Given the description of an element on the screen output the (x, y) to click on. 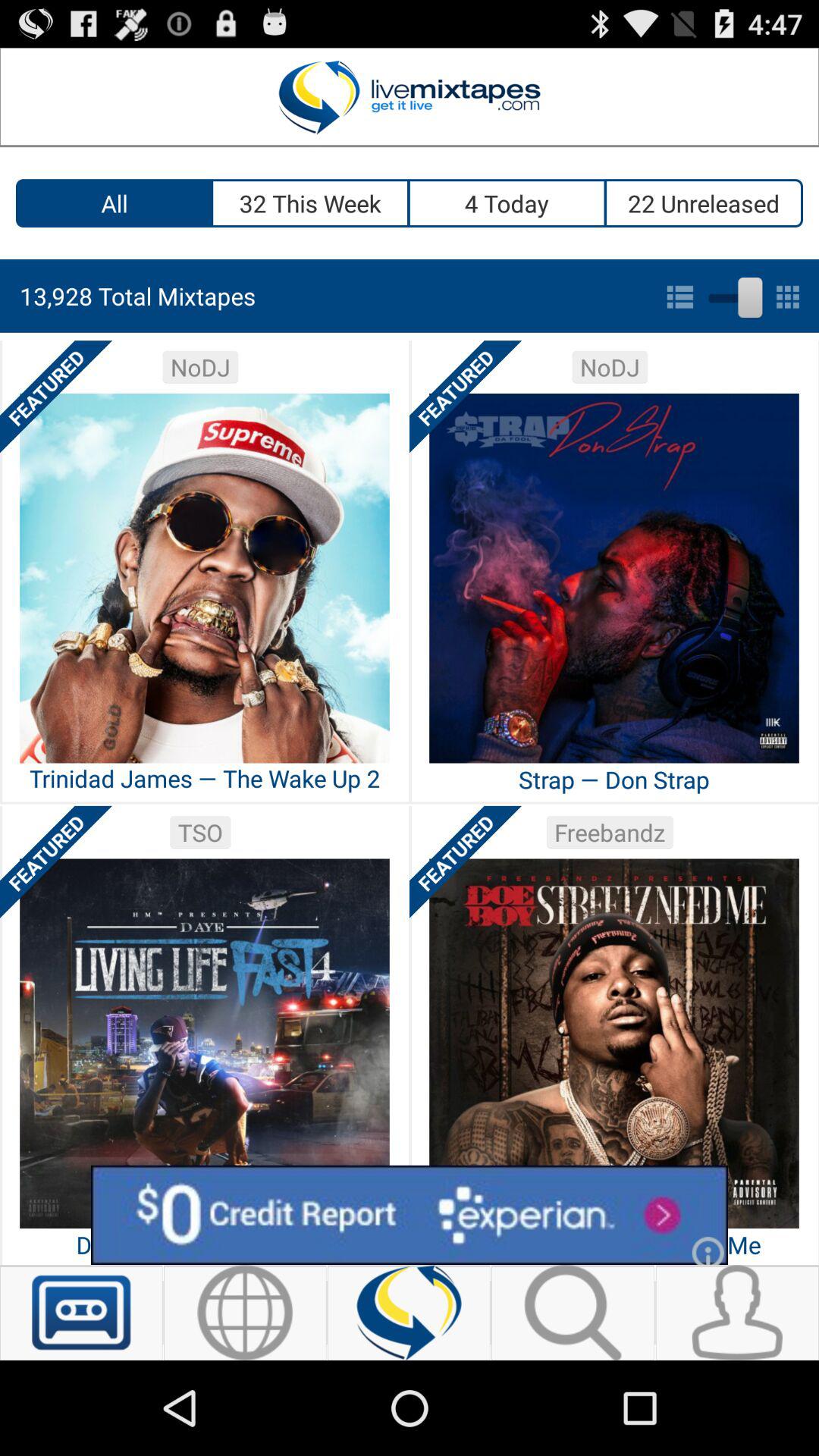
update the information (408, 1312)
